Given the description of an element on the screen output the (x, y) to click on. 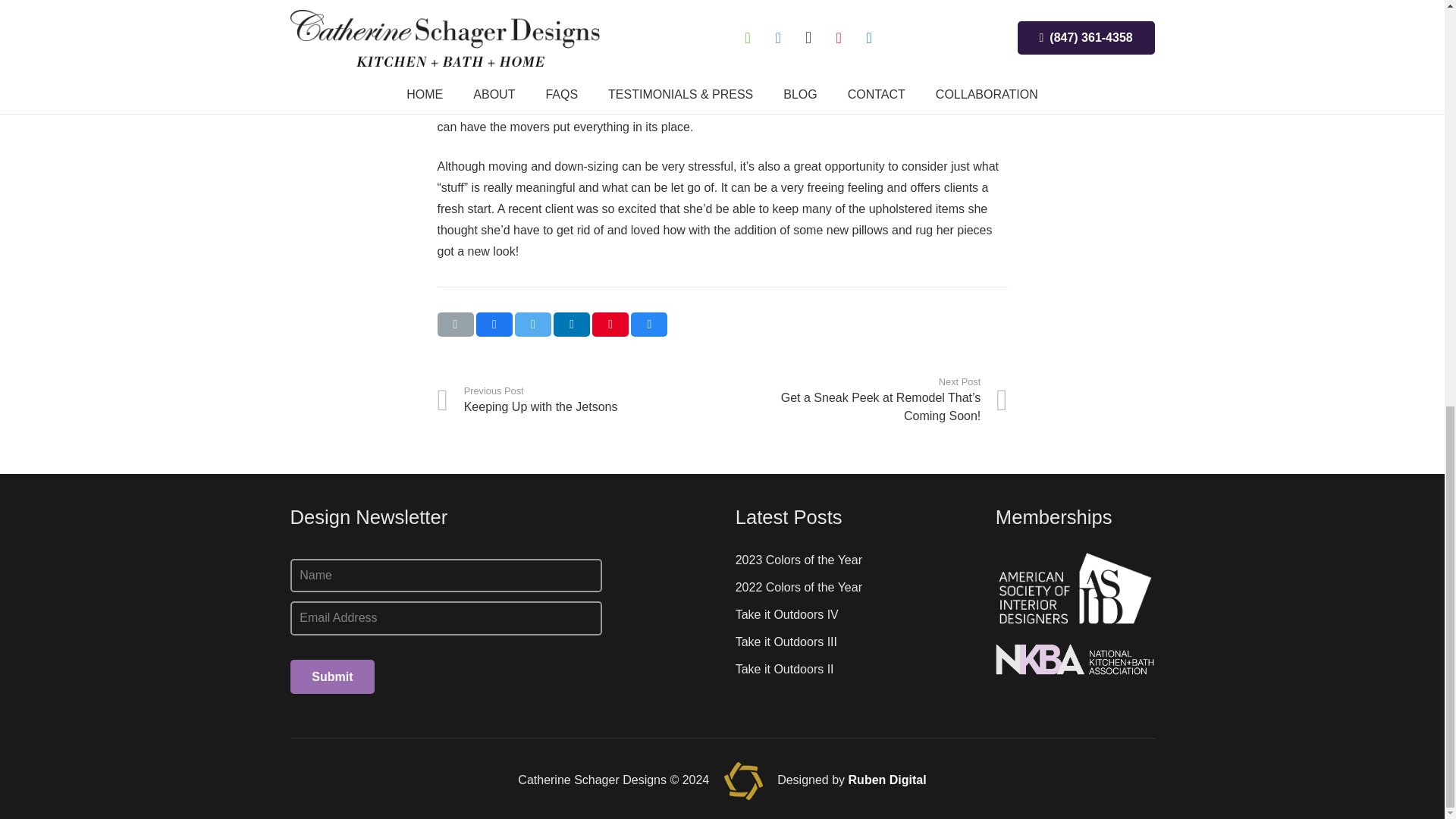
NKBA Membership (1074, 659)
2022 Colors of the Year (798, 586)
Keeping Up with the Jetsons (579, 399)
Take it Outdoors III (579, 399)
Share this (786, 641)
Email this (648, 324)
Illinois ASID Member (454, 324)
Take it Outdoors IV (1074, 588)
Submit (786, 614)
2023 Colors of the Year (331, 676)
Pin this (798, 559)
Take it Outdoors II (610, 324)
Tweet this (784, 668)
Share this (533, 324)
